Given the description of an element on the screen output the (x, y) to click on. 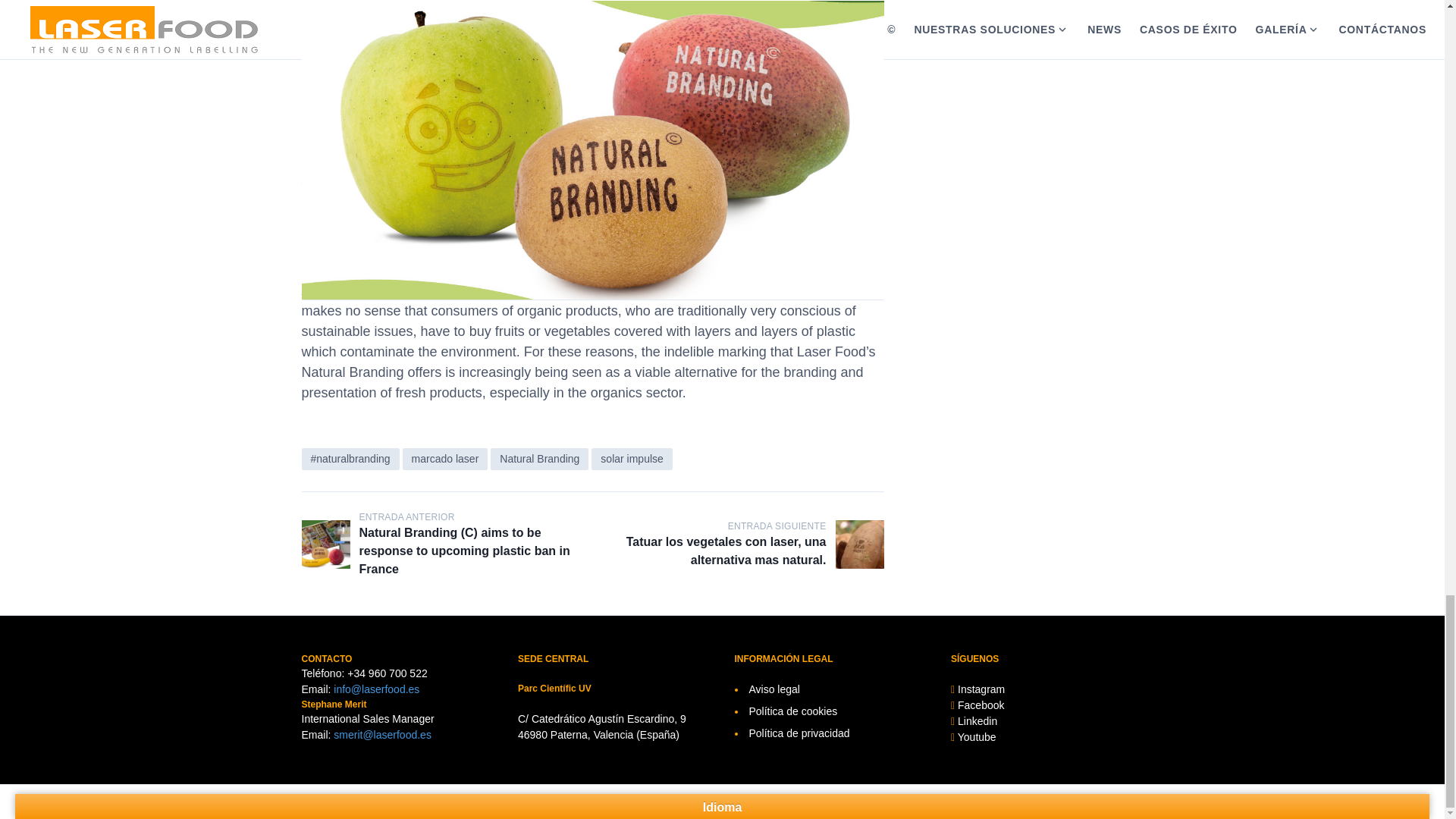
Tatuar los vegetales con laser, una alternativa mas natural. (859, 544)
marcado laser (445, 458)
complete elimination of plastic packaging (579, 198)
Natural Branding (539, 458)
